Given the description of an element on the screen output the (x, y) to click on. 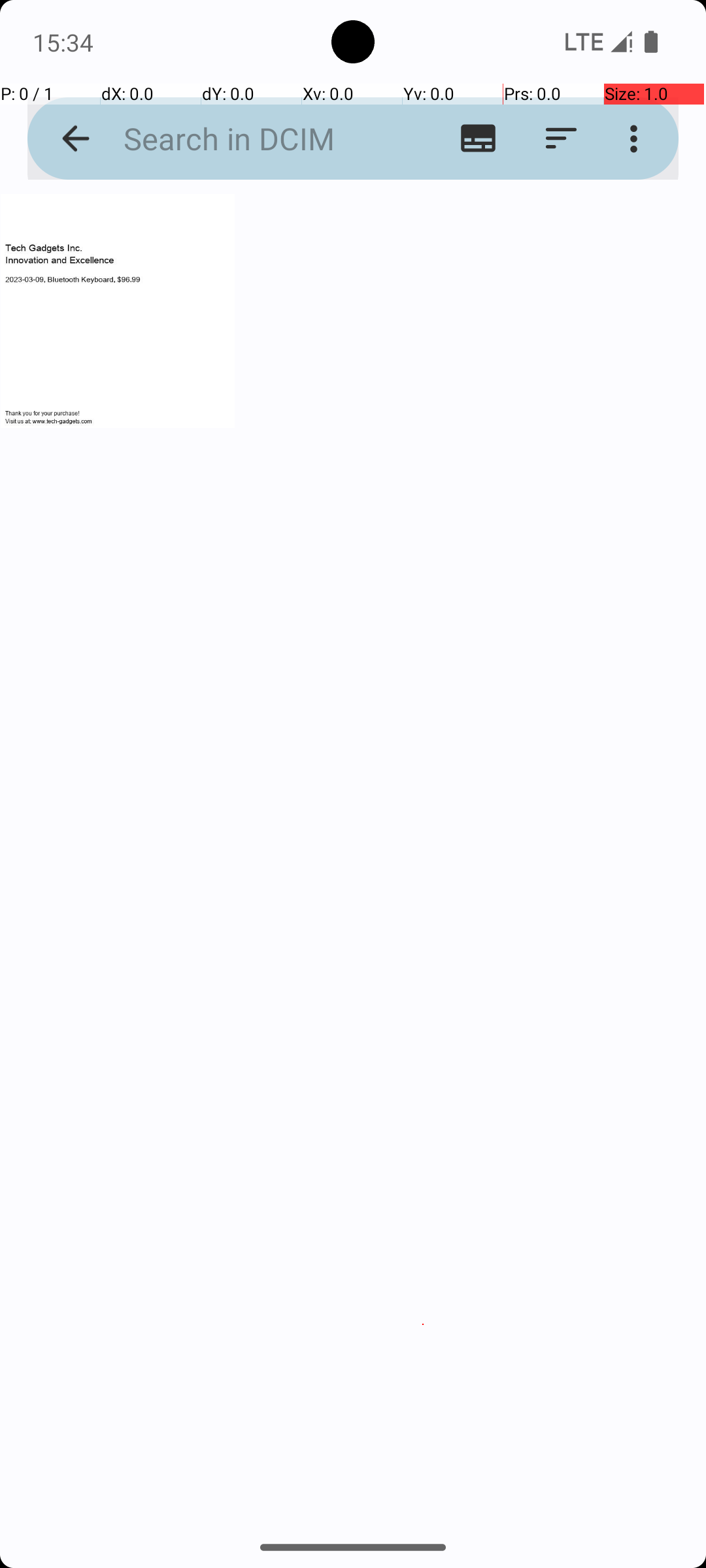
Search in DCIM Element type: android.widget.EditText (252, 138)
Toggle filename visibility Element type: android.widget.Button (477, 138)
